Given the description of an element on the screen output the (x, y) to click on. 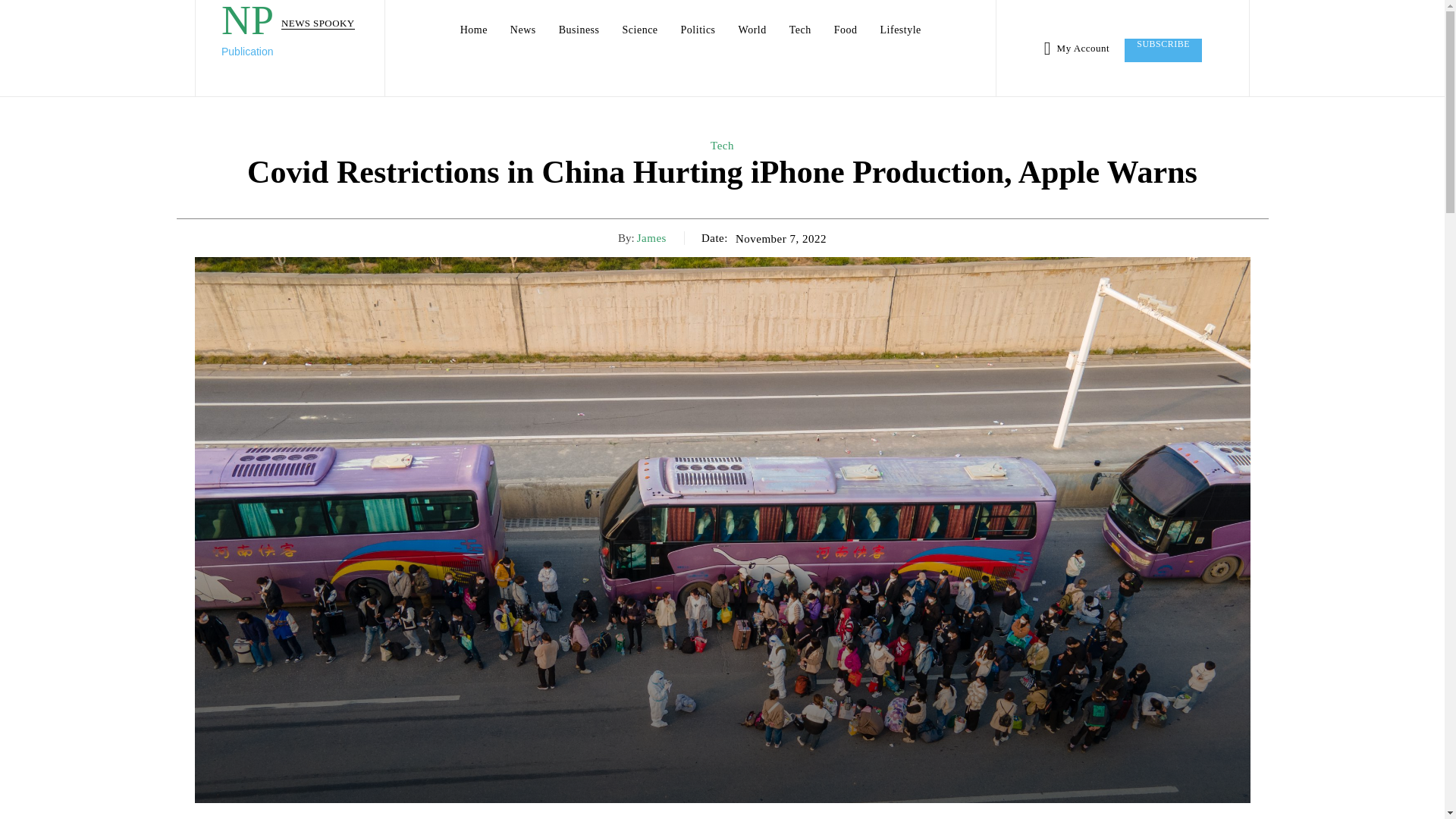
Publication (288, 51)
Business (579, 30)
SUBSCRIBE (1163, 49)
Lifestyle (900, 30)
